Given the description of an element on the screen output the (x, y) to click on. 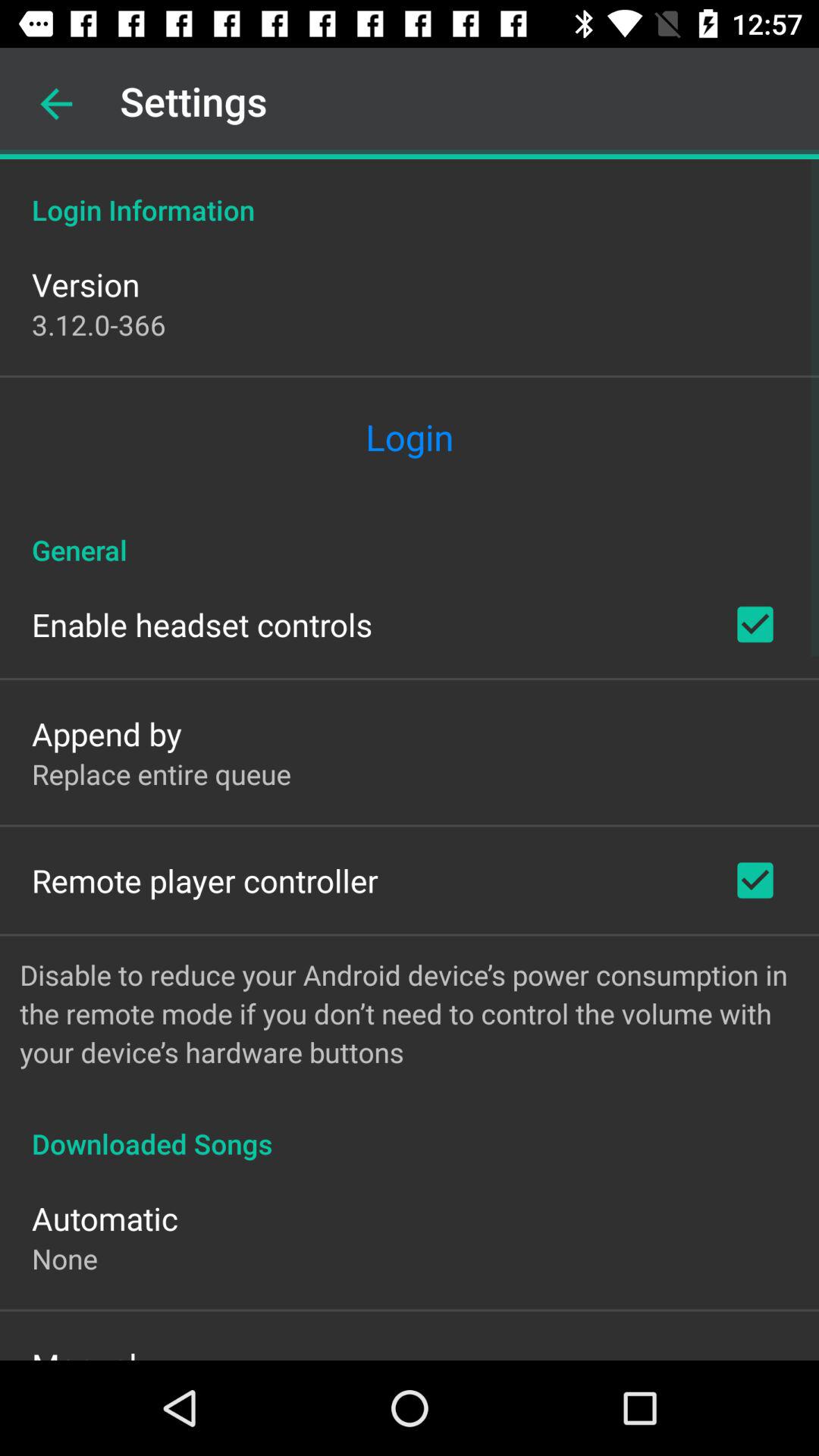
press the item above remote player controller (161, 773)
